Given the description of an element on the screen output the (x, y) to click on. 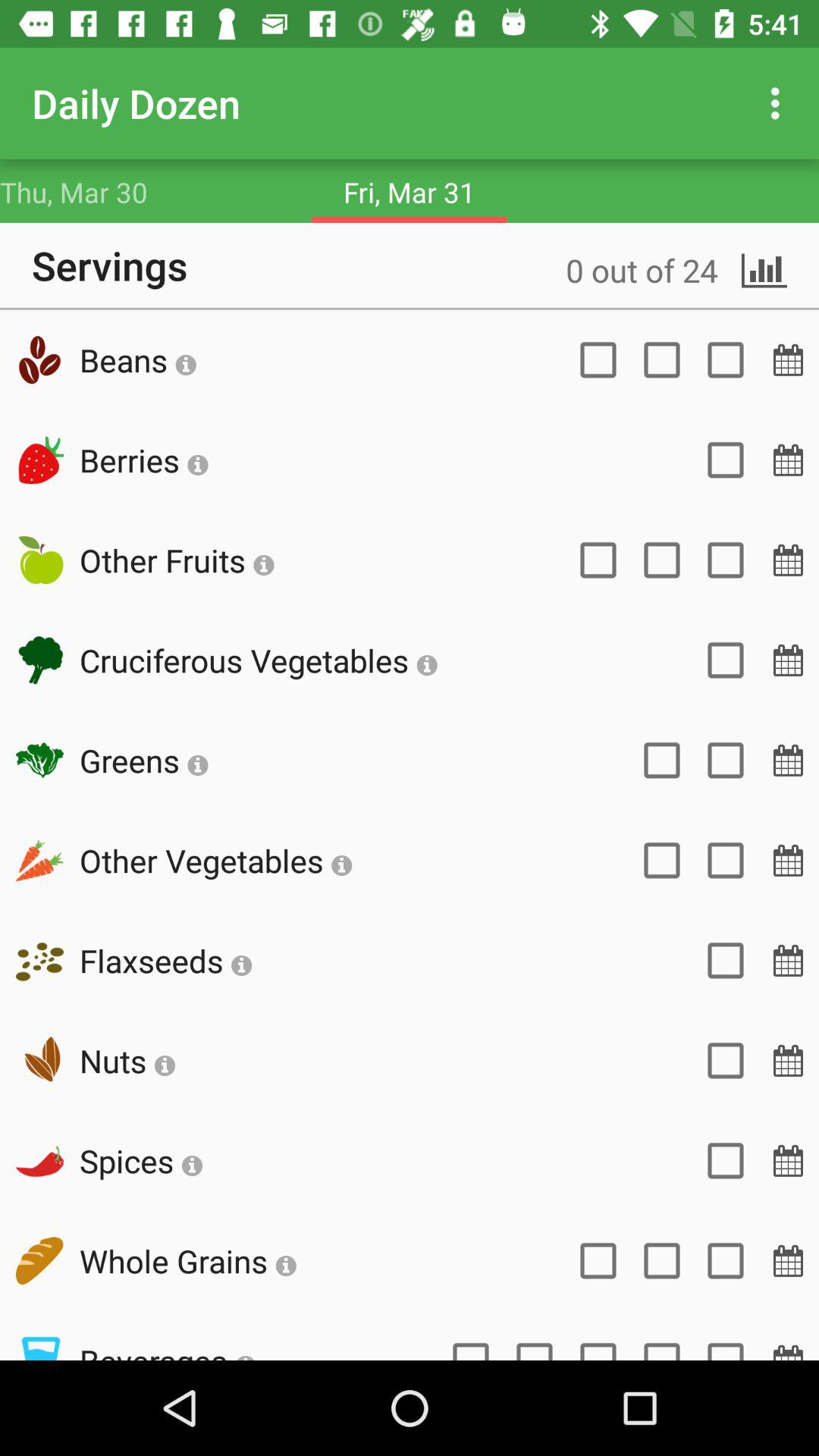
click icon next to the servings icon (614, 264)
